Given the description of an element on the screen output the (x, y) to click on. 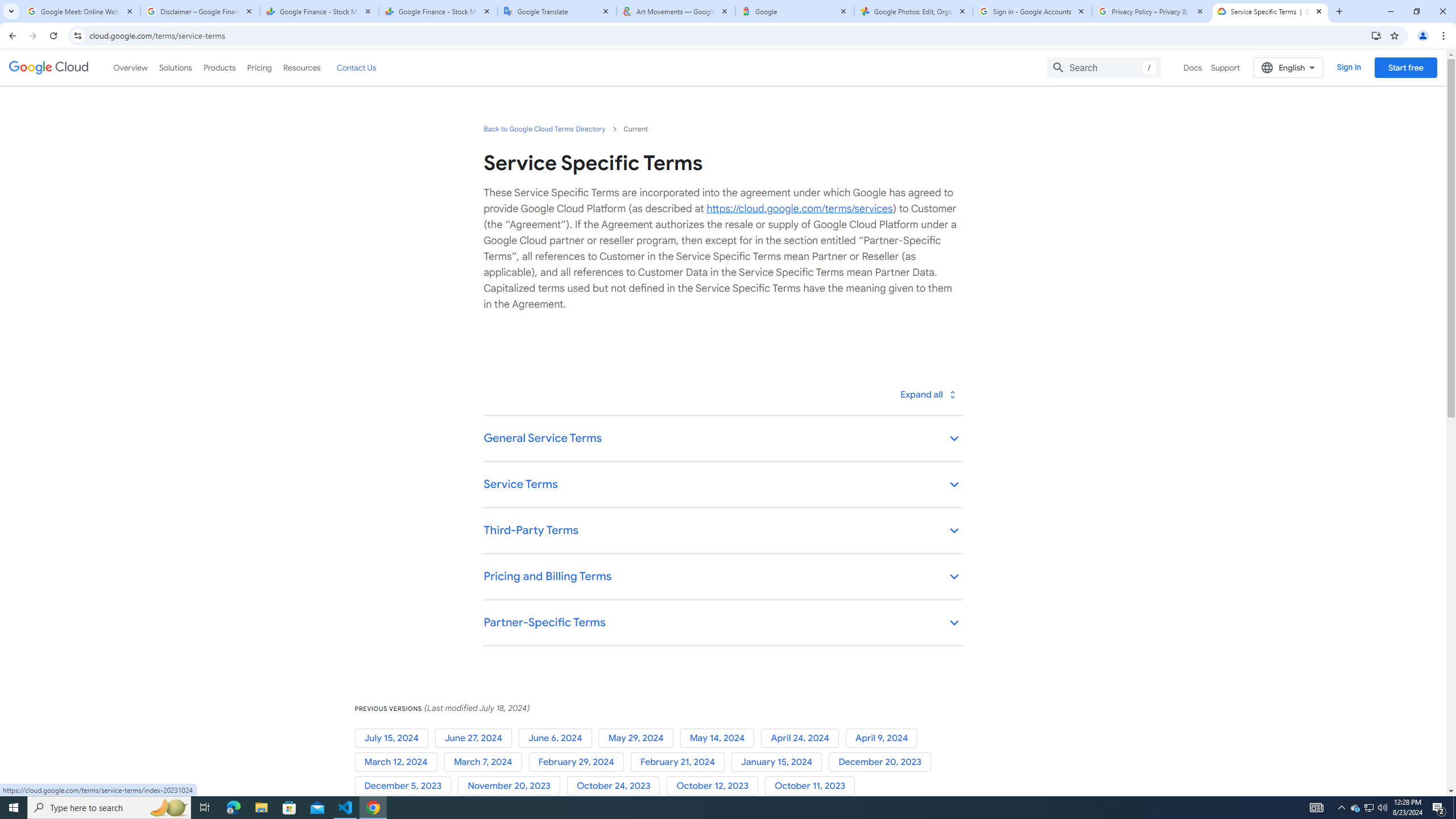
Back to Google Cloud Terms Directory (544, 128)
January 15, 2024 (779, 761)
Partner-Specific Terms keyboard_arrow_down (722, 623)
Products (218, 67)
June 27, 2024 (475, 737)
Sign in - Google Accounts (1032, 11)
December 20, 2023 (882, 761)
October 12, 2023 (715, 786)
March 7, 2024 (486, 761)
